Given the description of an element on the screen output the (x, y) to click on. 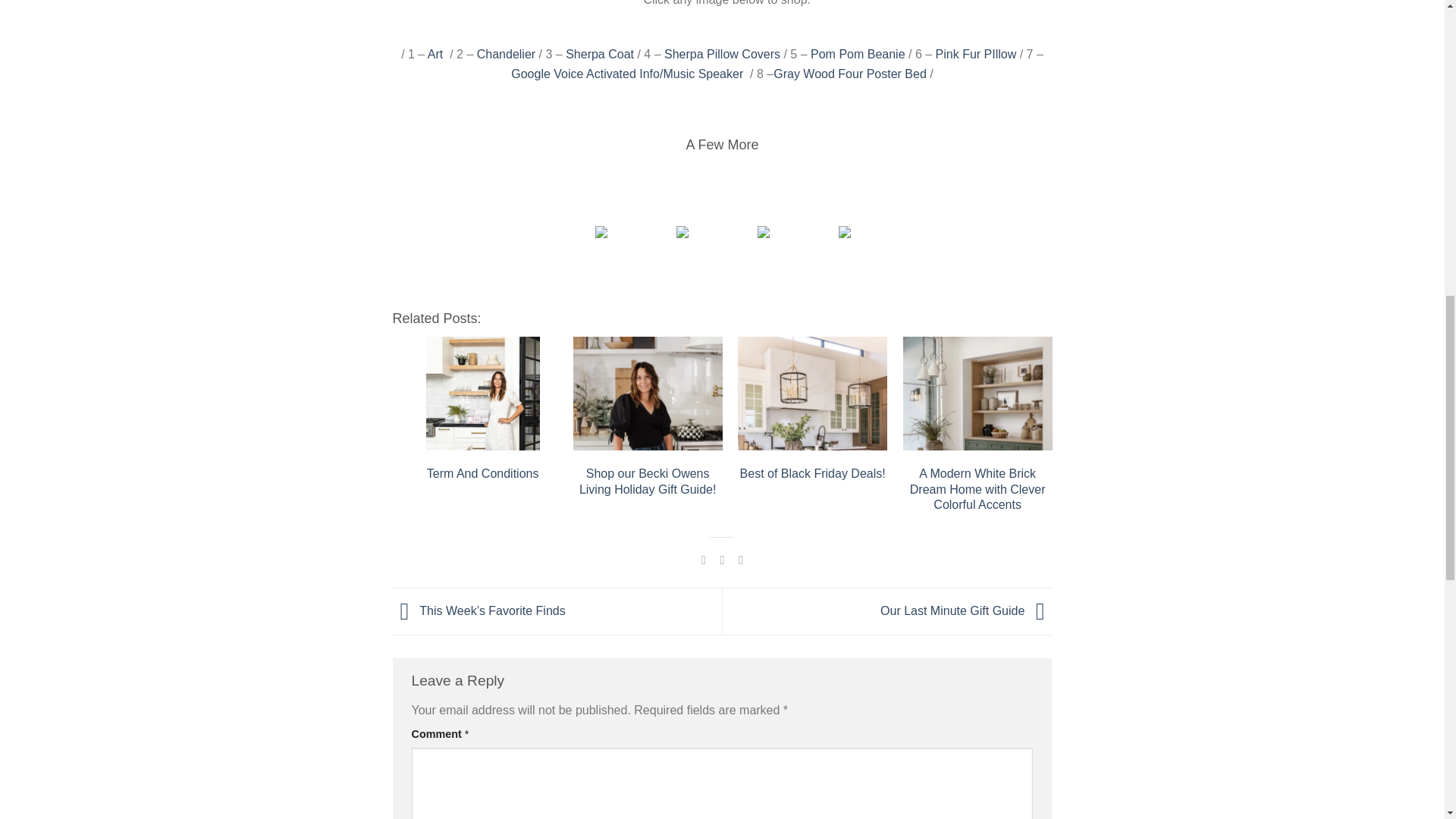
Term And Conditions (483, 393)
A Modern White Brick Dream Home with Clever Colorful Accents (977, 393)
Shop our Becki Owens Living Holiday Gift Guide! (647, 393)
Best of Black Friday Deals! (812, 393)
